Given the description of an element on the screen output the (x, y) to click on. 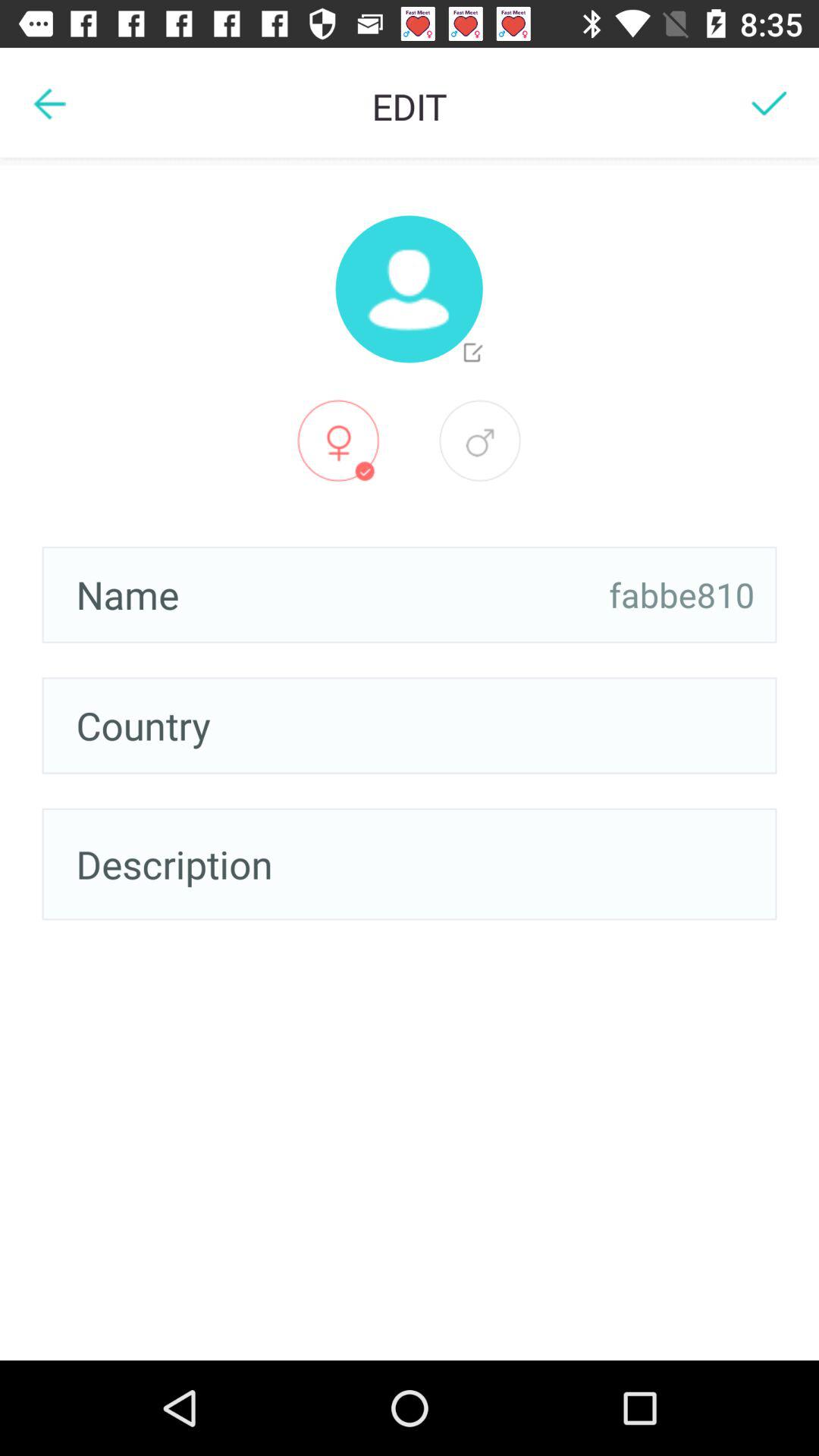
gender female (338, 440)
